Given the description of an element on the screen output the (x, y) to click on. 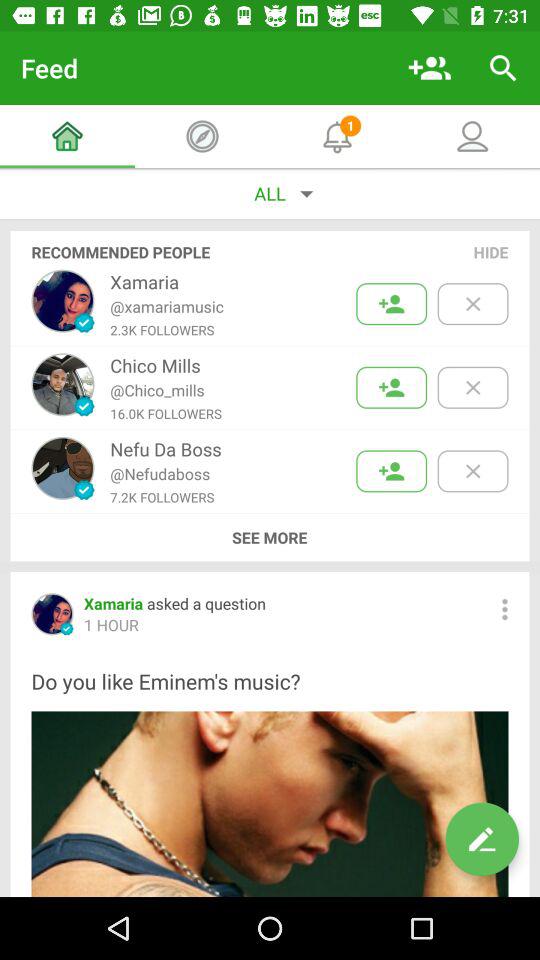
more information (504, 609)
